Given the description of an element on the screen output the (x, y) to click on. 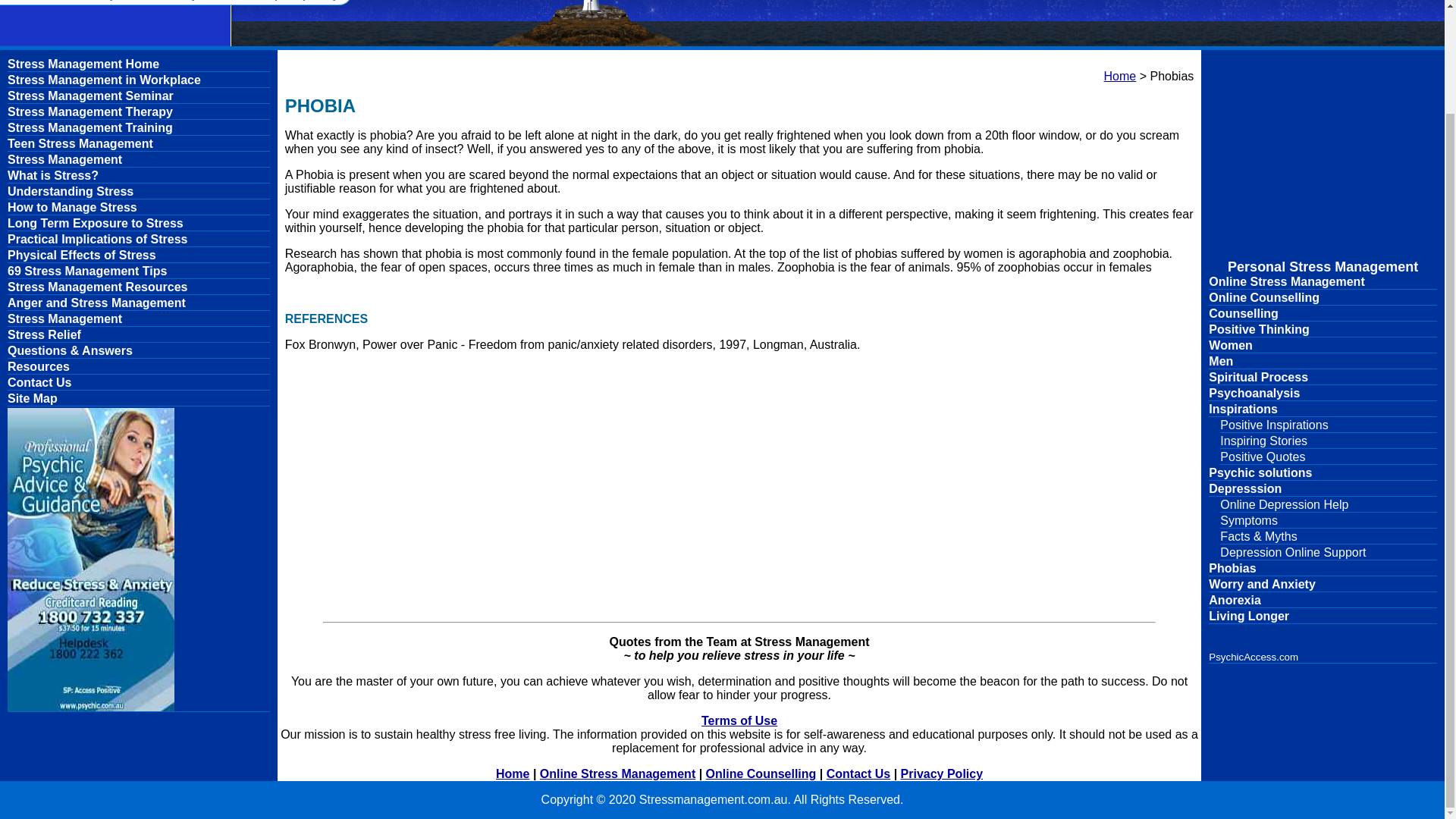
Home (512, 773)
Spiritual Process (1322, 377)
Home (1120, 75)
Physical Effects of Stress (138, 255)
Psychoanalysis (1322, 393)
Resources (138, 367)
Inspirations (1322, 409)
69 Stress Management Tips (138, 271)
Stress Management Seminar (138, 96)
How to Manage Stress (138, 207)
What is Stress? (138, 175)
Long Term Exposure to Stress (138, 223)
Stress Management Therapy (138, 112)
Positive Thinking (1322, 329)
